Given the description of an element on the screen output the (x, y) to click on. 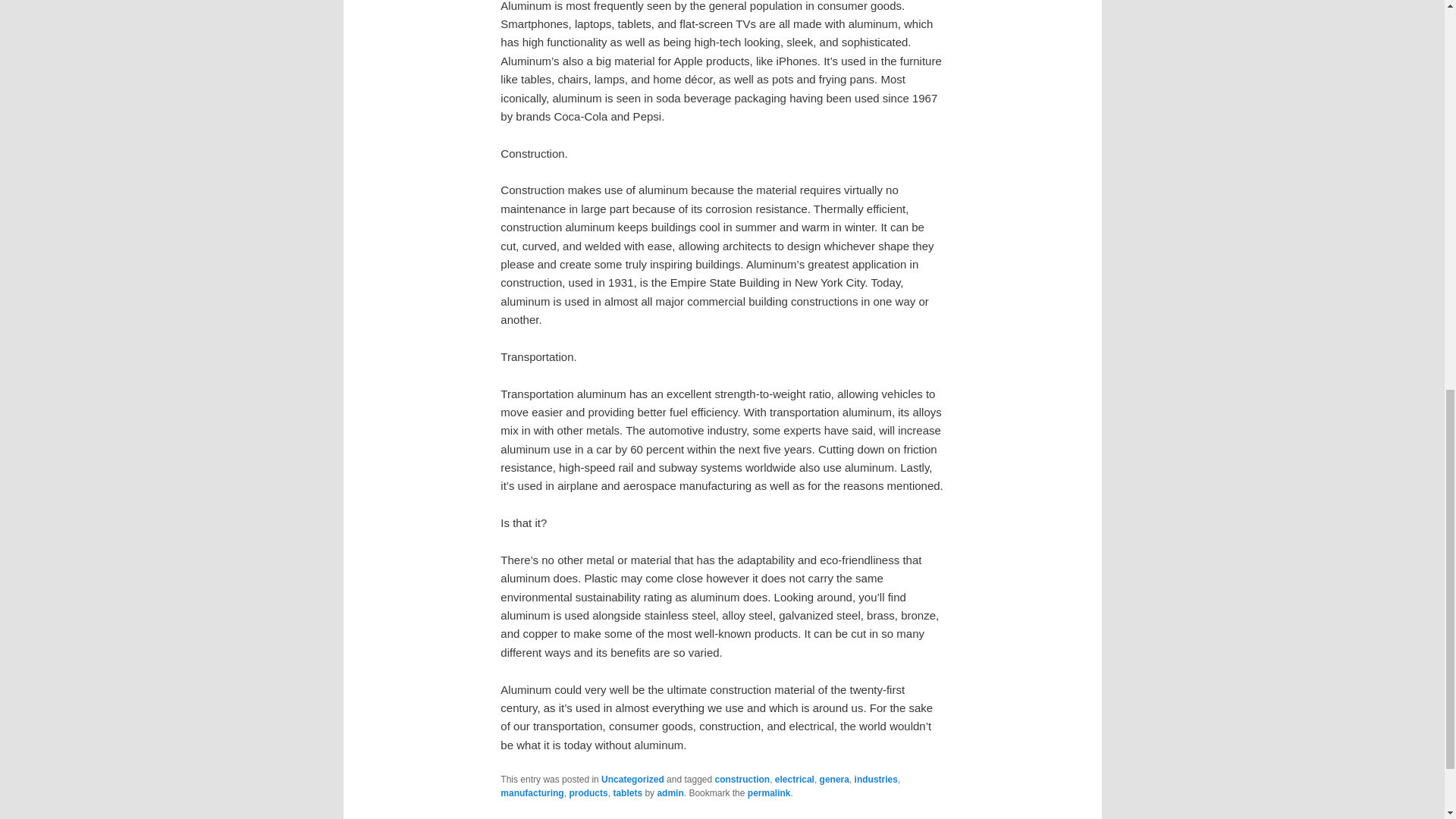
genera (833, 778)
products (588, 792)
View all posts in Uncategorized (632, 778)
construction (742, 778)
manufacturing (531, 792)
tablets (627, 792)
industries (876, 778)
electrical (793, 778)
permalink (769, 792)
admin (669, 792)
Uncategorized (632, 778)
